Given the description of an element on the screen output the (x, y) to click on. 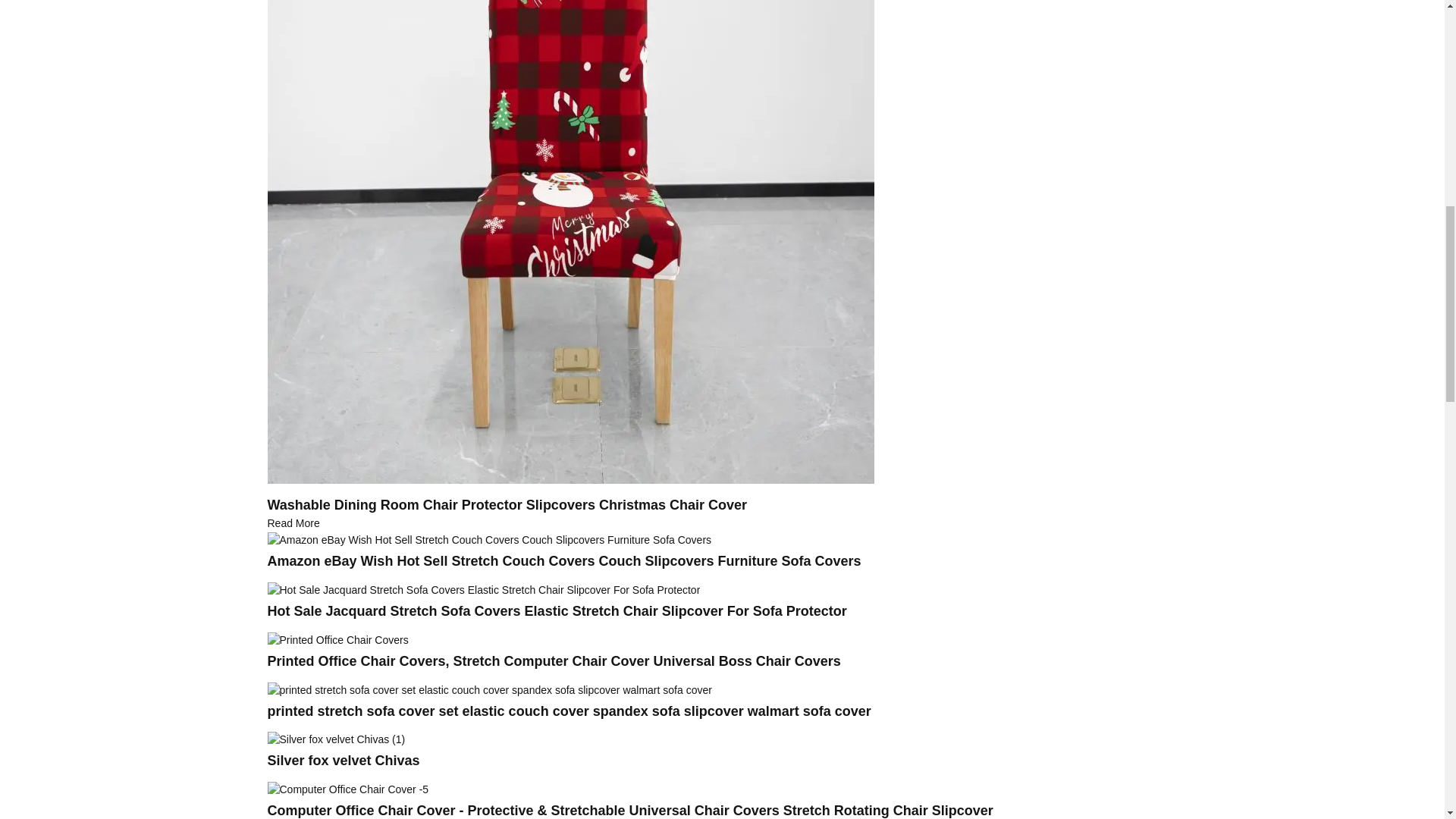
Read More (292, 522)
